Given the description of an element on the screen output the (x, y) to click on. 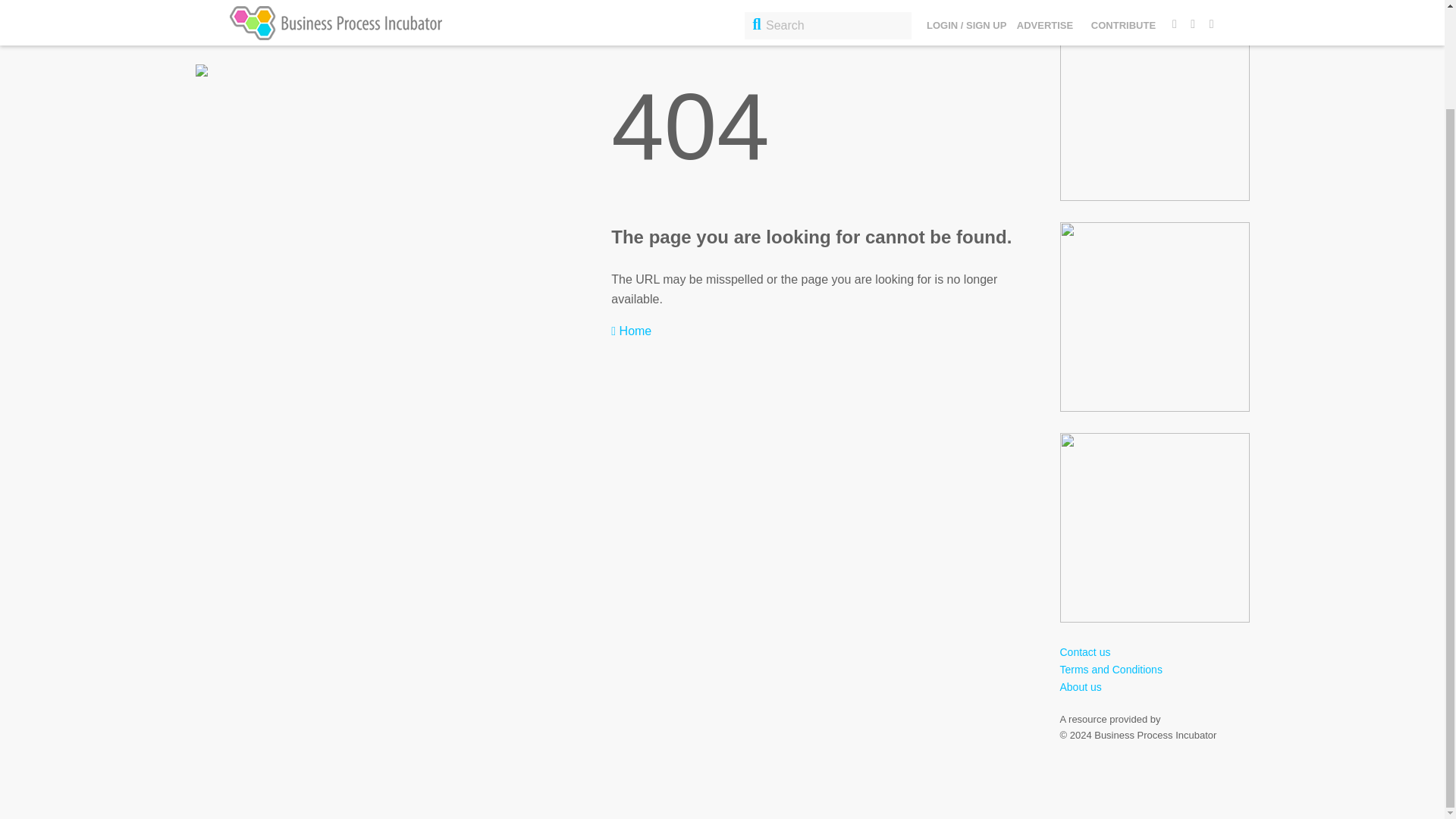
Contact us (1084, 652)
About us (1080, 686)
Terms and Conditions (1110, 669)
Home (630, 330)
